Given the description of an element on the screen output the (x, y) to click on. 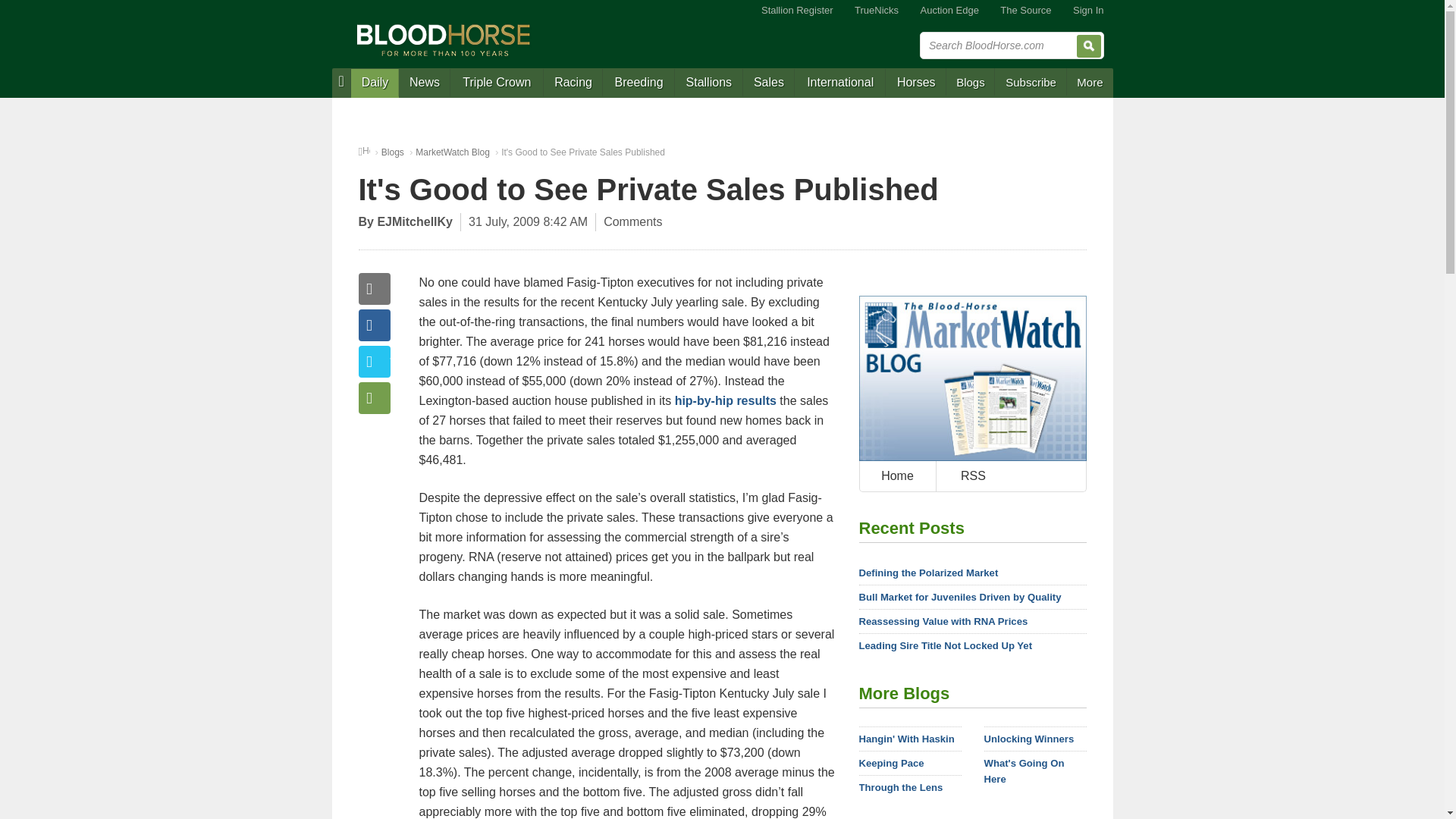
Thoroughbred News (423, 82)
Blood-Horse: Thoroughbred Horse Racing News (443, 40)
News (423, 82)
Auction Edge (949, 10)
Sign In (1088, 10)
TrueNicks (876, 10)
Daily (374, 82)
Stallion Register (797, 10)
Search (1088, 46)
Blood-Horse Daily (374, 82)
Search (1088, 46)
The Source (1025, 10)
